Given the description of an element on the screen output the (x, y) to click on. 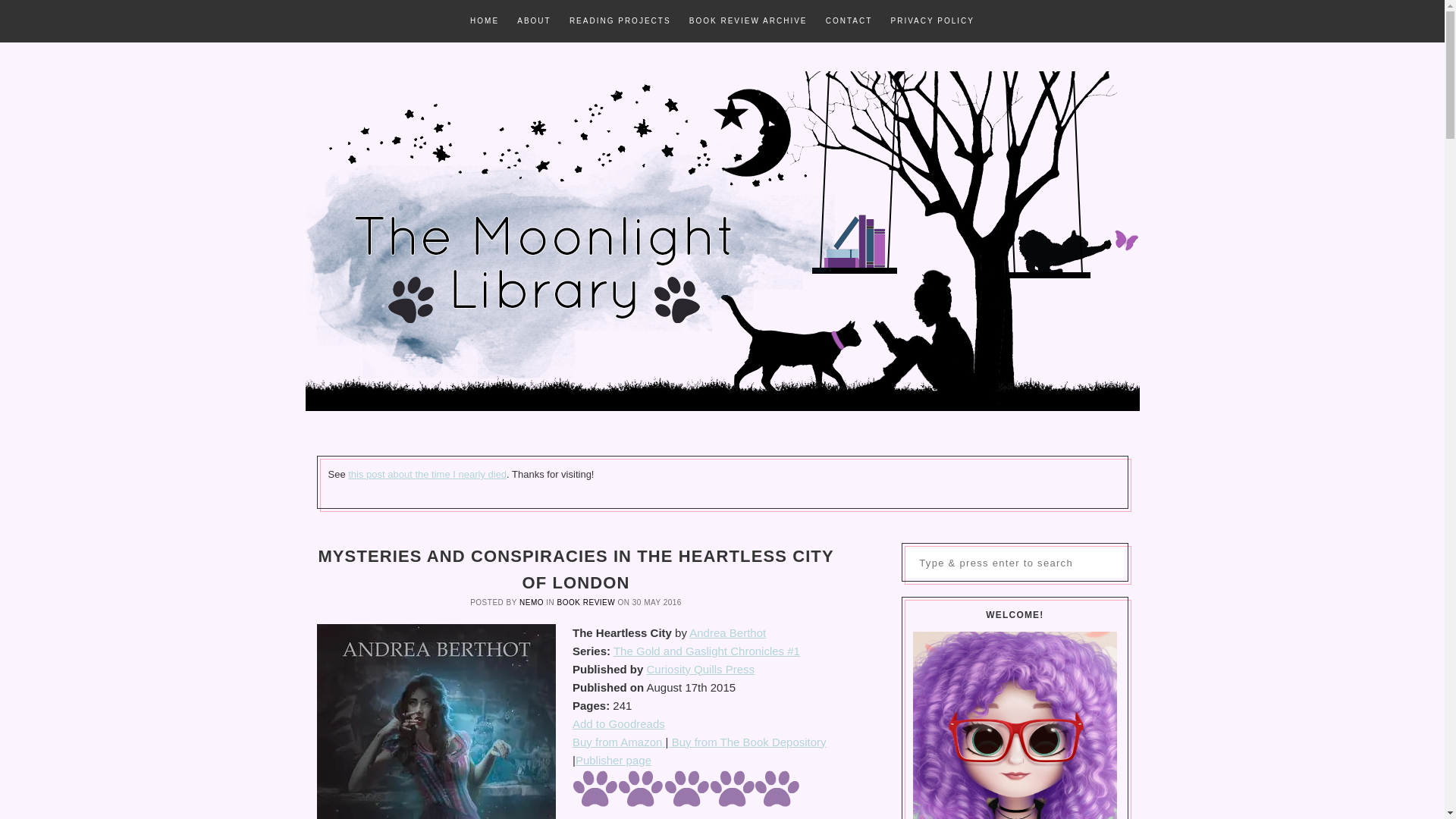
PRIVACY POLICY (931, 21)
this post about the time I nearly died (426, 473)
Search for: (1014, 562)
Welcome! (1014, 725)
HOME (484, 21)
BOOK REVIEW (586, 602)
BOOK REVIEW ARCHIVE (748, 21)
Add to Goodreads (618, 723)
Mysteries And Conspiracies in the Heartless City of London (436, 721)
Publisher page (612, 759)
